Given the description of an element on the screen output the (x, y) to click on. 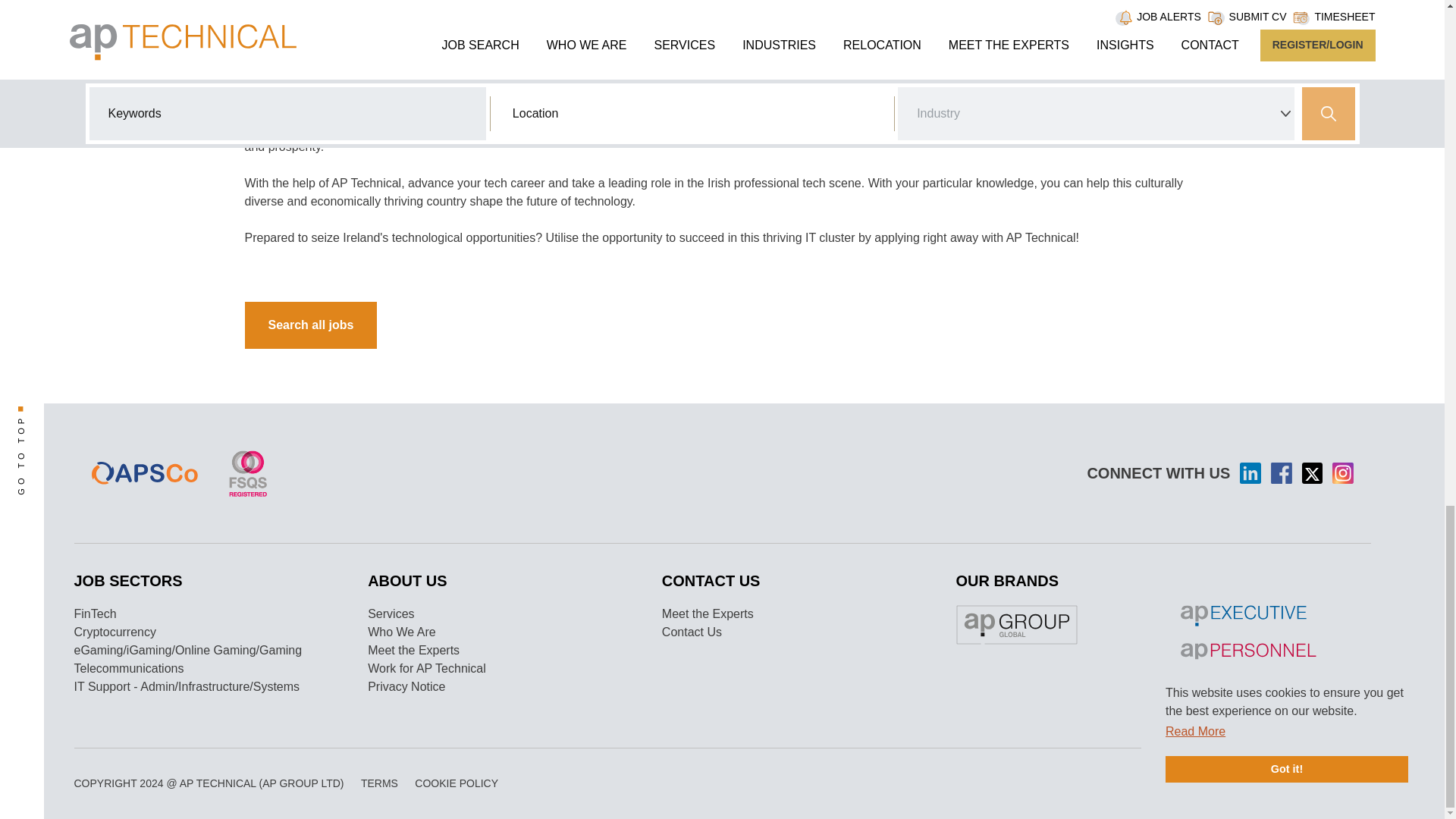
GO TO TOP (54, 415)
